Given the description of an element on the screen output the (x, y) to click on. 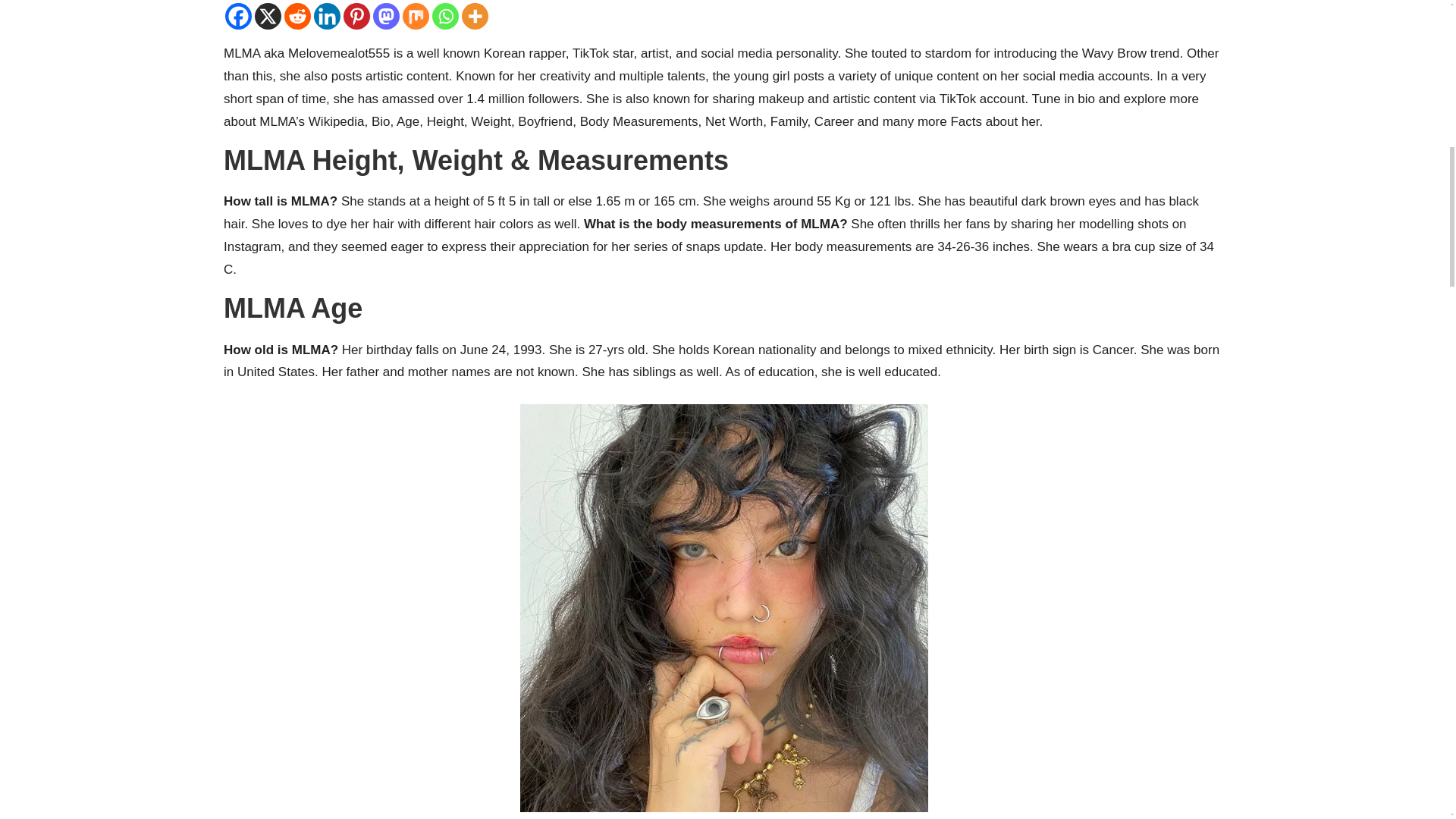
Mastodon (385, 16)
Linkedin (327, 16)
X (267, 16)
Mix (416, 16)
Facebook (238, 16)
Reddit (297, 16)
Whatsapp (445, 16)
More (474, 16)
Pinterest (356, 16)
